Given the description of an element on the screen output the (x, y) to click on. 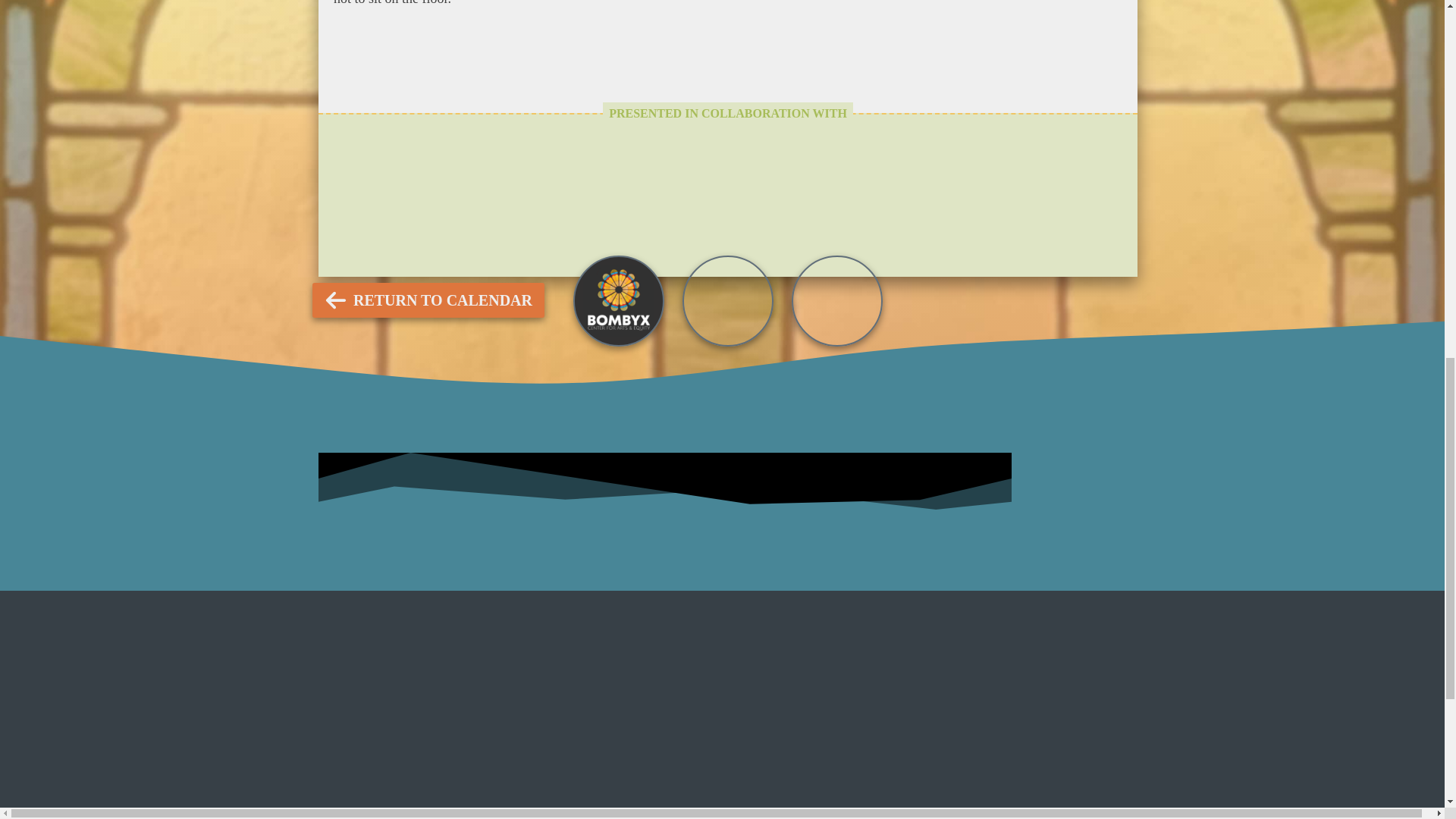
RETURN TO CALENDAR (428, 299)
HOME (834, 242)
EVENTS (628, 242)
ARTISTS (735, 242)
